Given the description of an element on the screen output the (x, y) to click on. 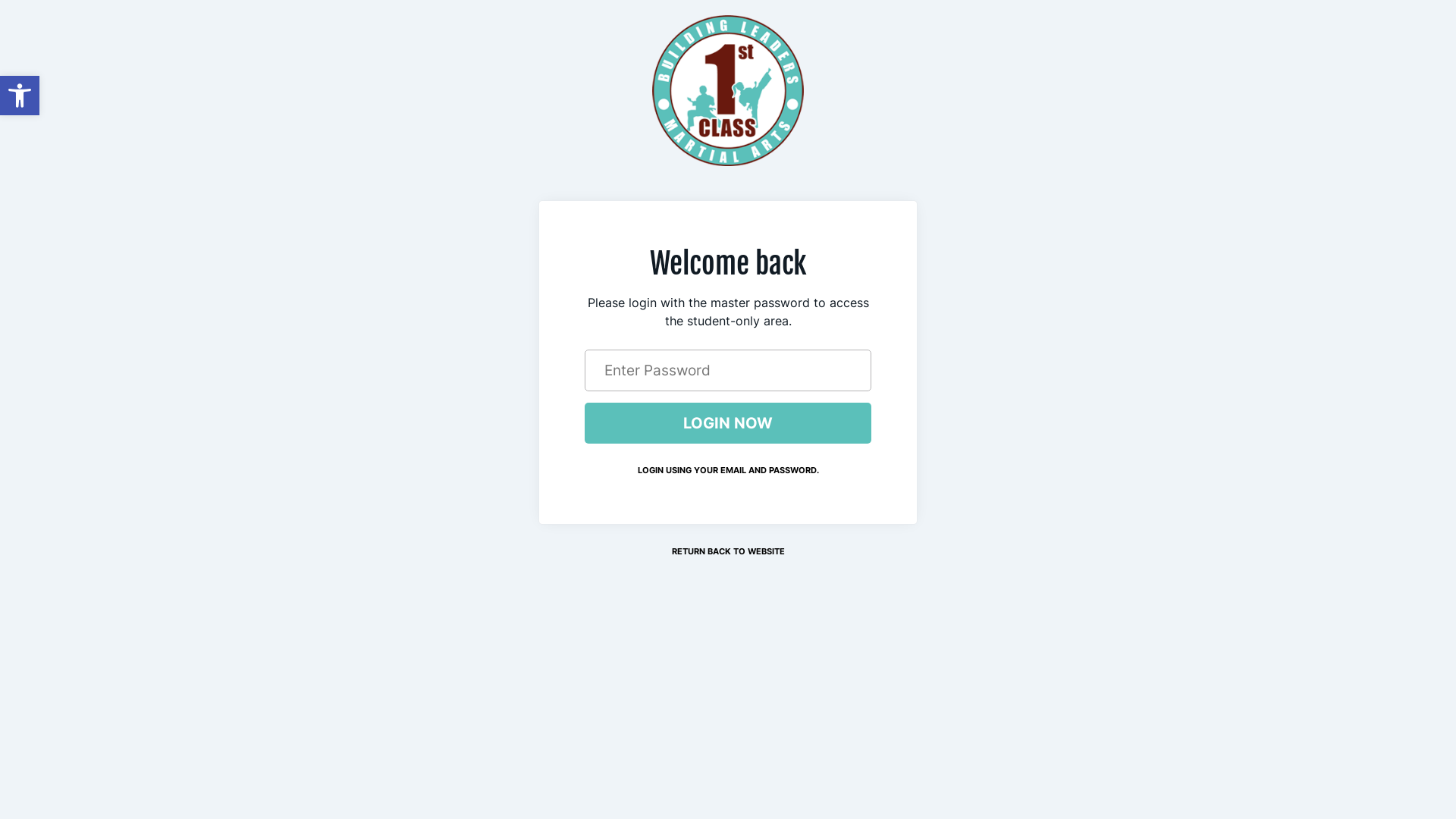
Login Now Element type: text (727, 422)
Open toolbar
Accessibility Tools Element type: text (19, 95)
RETURN BACK TO WEBSITE Element type: text (727, 551)
LOGIN USING YOUR EMAIL AND PASSWORD. Element type: text (727, 470)
